Given the description of an element on the screen output the (x, y) to click on. 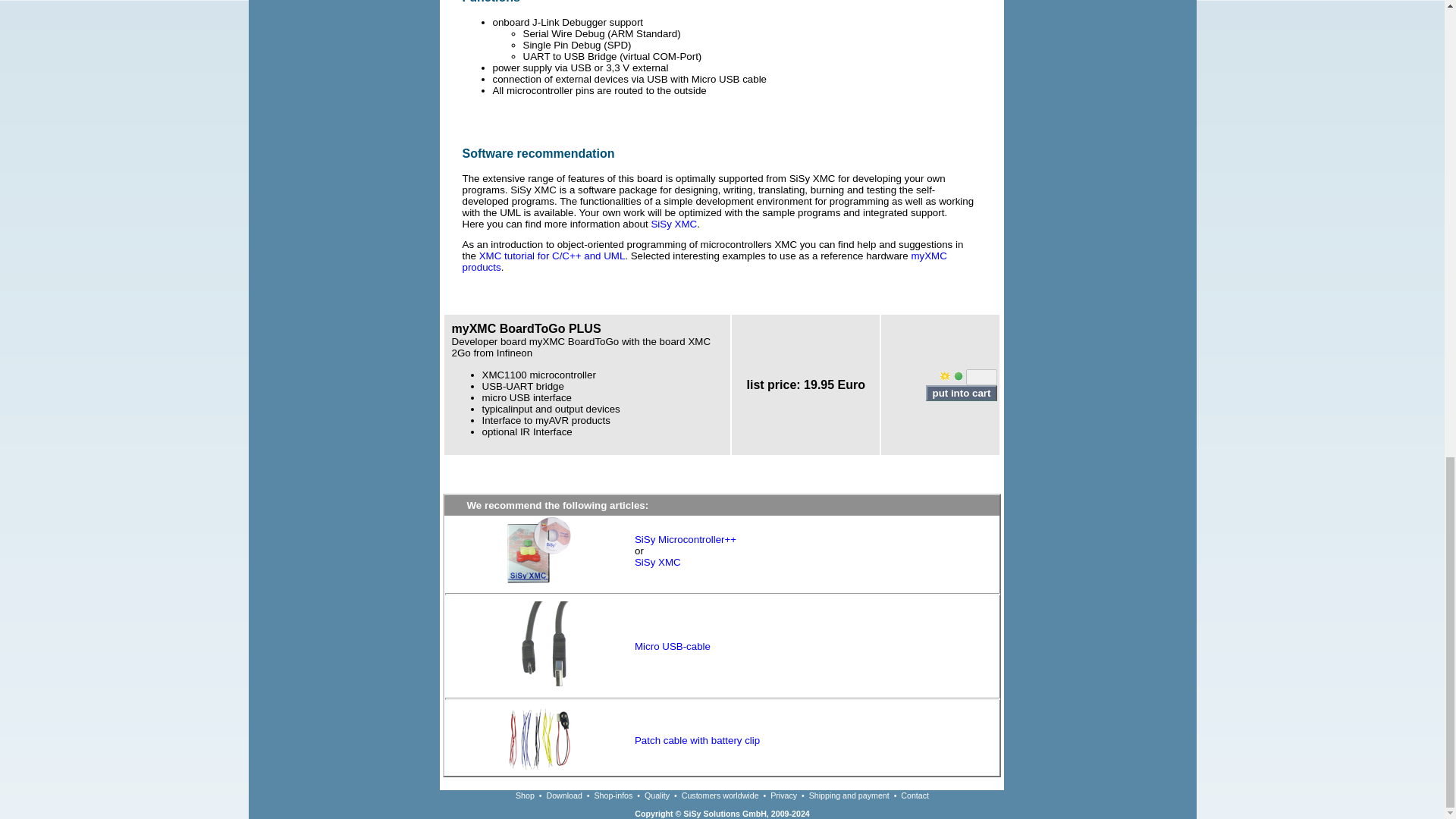
available (957, 375)
Bestseller (944, 375)
put into cart (960, 392)
